Given the description of an element on the screen output the (x, y) to click on. 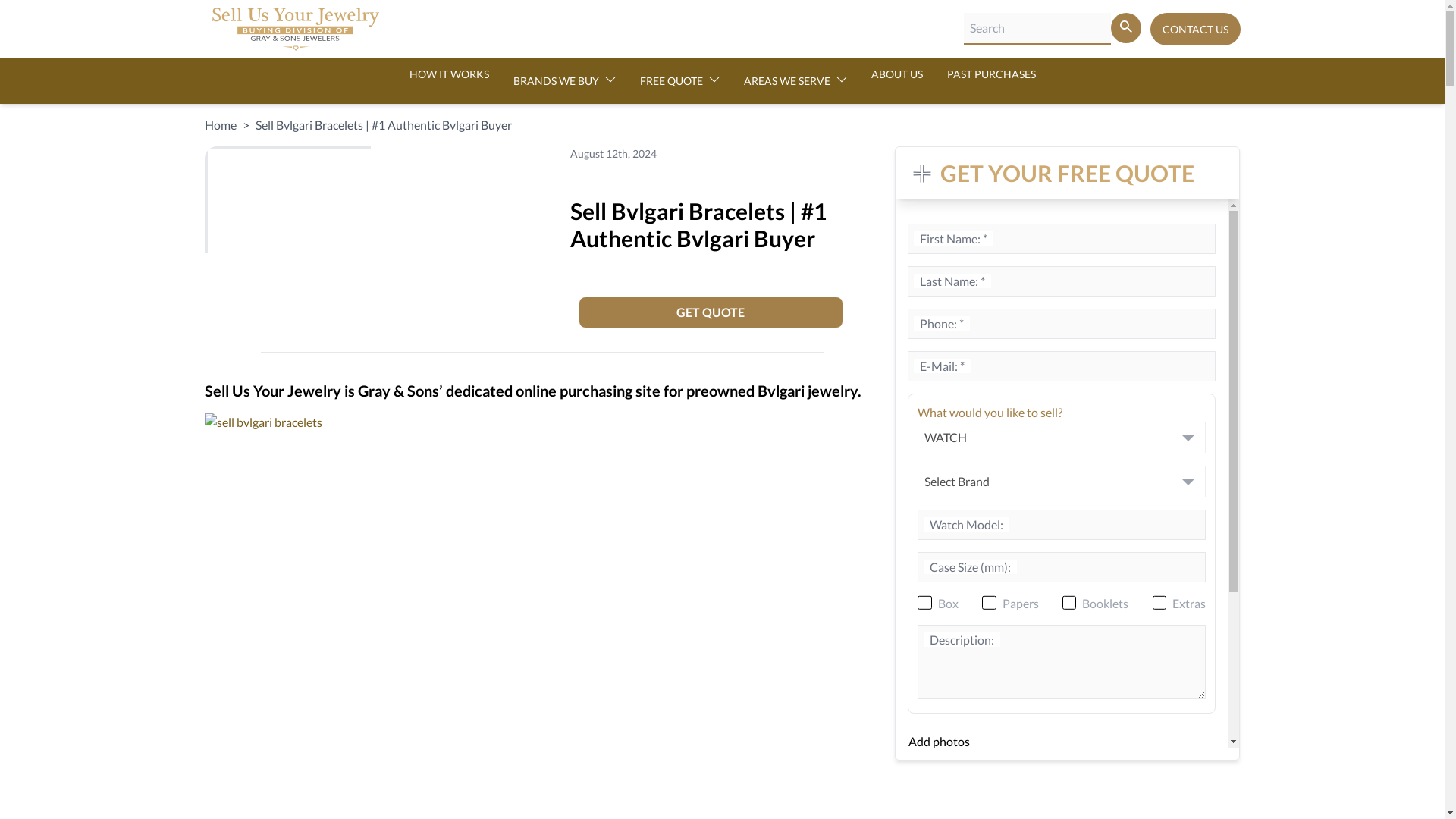
GET QUOTE (711, 312)
Booklets (1068, 602)
PAST PURCHASES (990, 73)
CONTACT US (1195, 29)
Search (1124, 28)
BRANDS WE BUY (563, 80)
ABOUT US (895, 73)
FREE QUOTE (679, 80)
Extras (1159, 602)
Papers (988, 602)
